Given the description of an element on the screen output the (x, y) to click on. 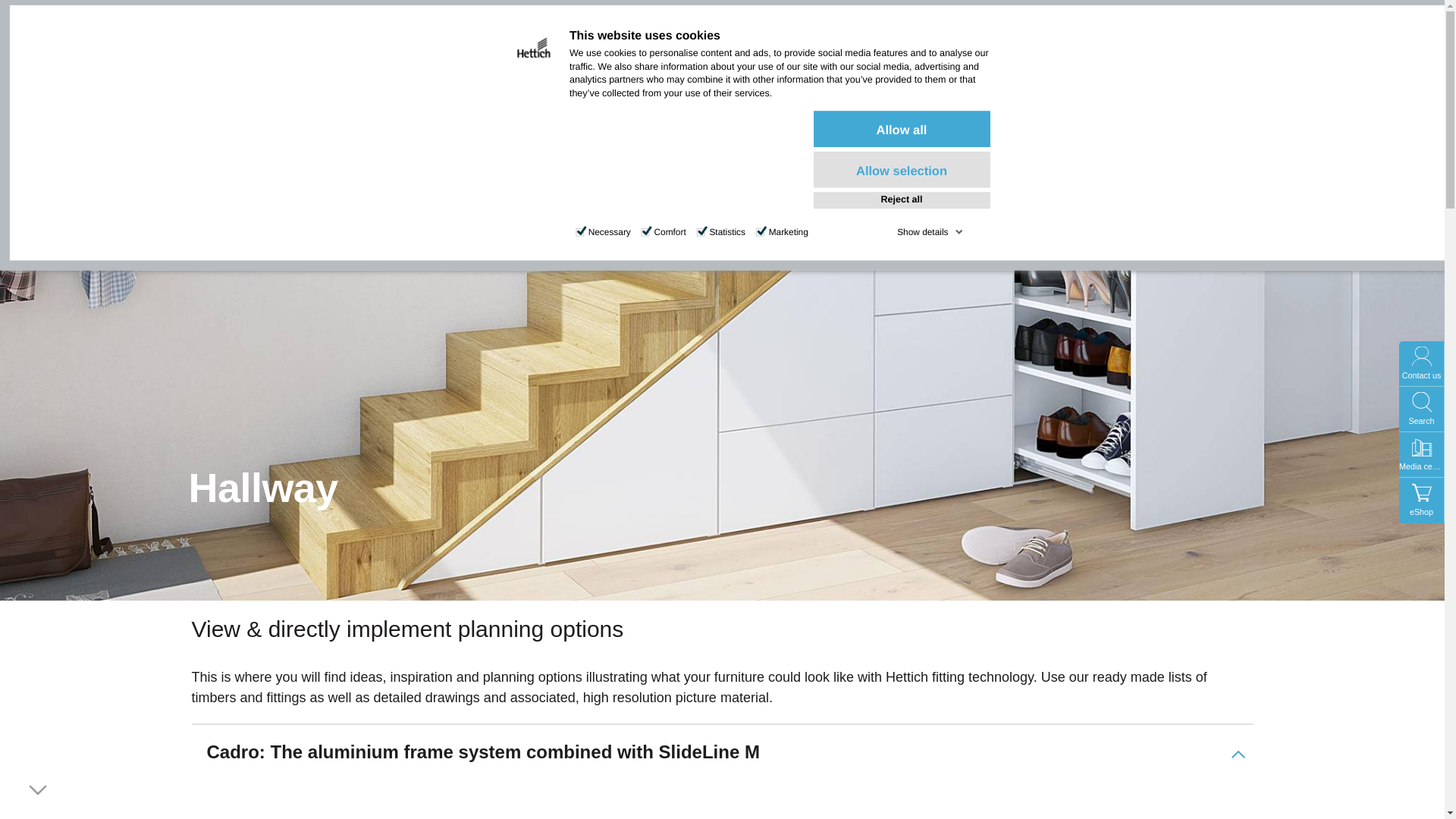
Show details (929, 232)
Reject all (902, 199)
Allow selection (902, 169)
Allow all (902, 128)
